Given the description of an element on the screen output the (x, y) to click on. 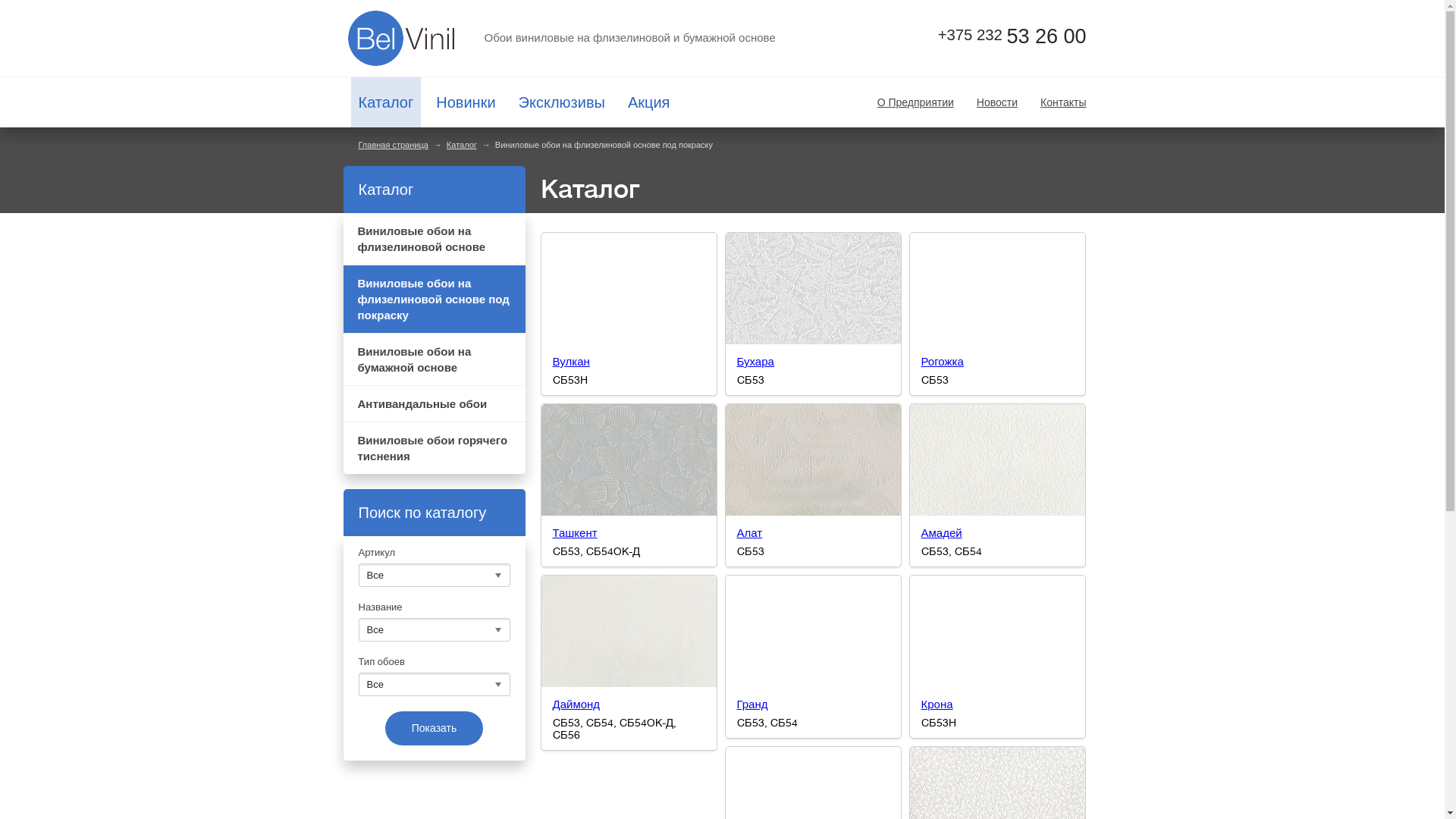
+375 232 53 26 00 Element type: text (996, 36)
